Given the description of an element on the screen output the (x, y) to click on. 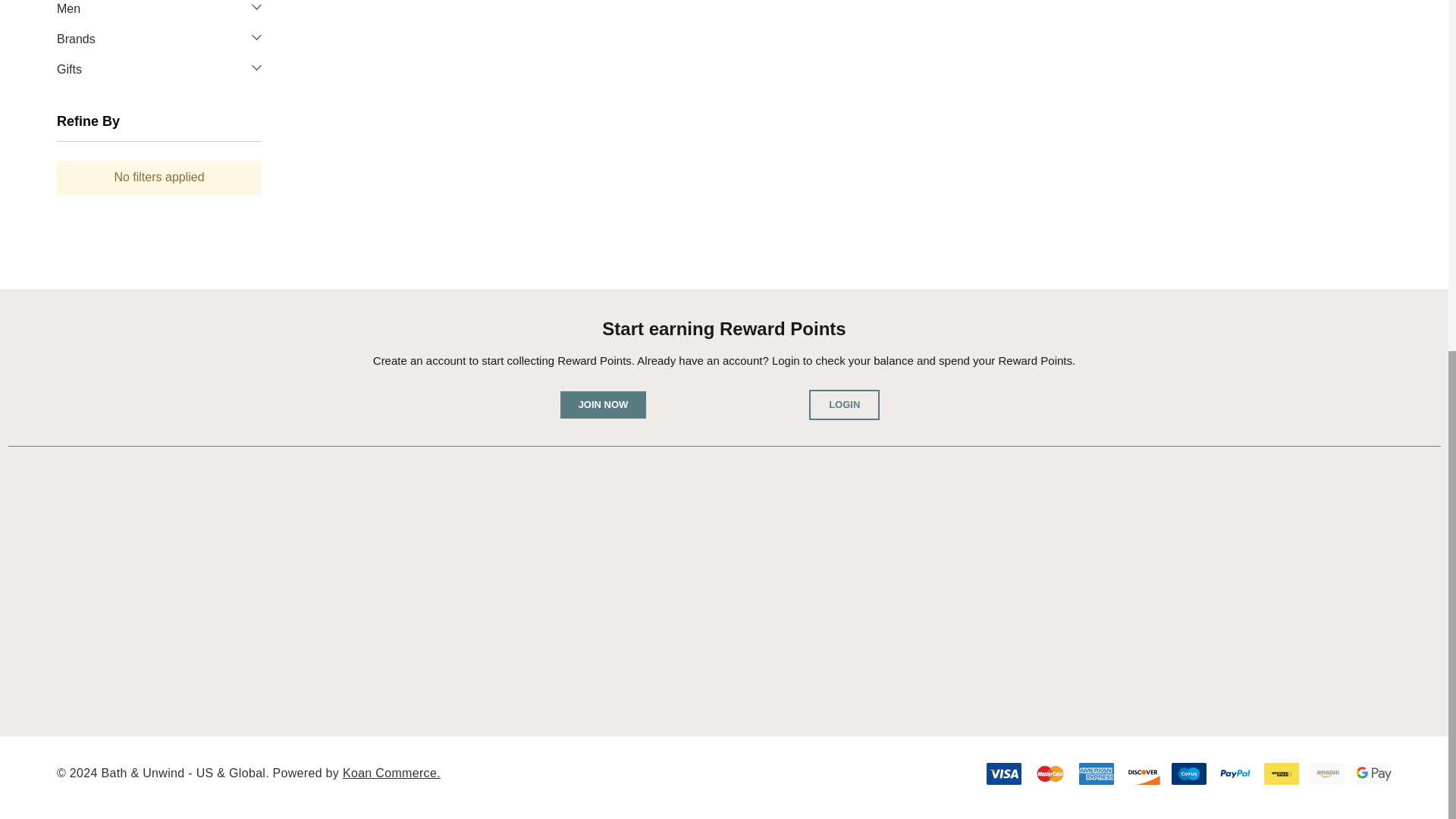
Discover Discover (1142, 773)
Mastercard Mastercard (1049, 773)
Amex Amex (1095, 773)
Visa Visa (1004, 773)
Koan Commerce (391, 772)
